Given the description of an element on the screen output the (x, y) to click on. 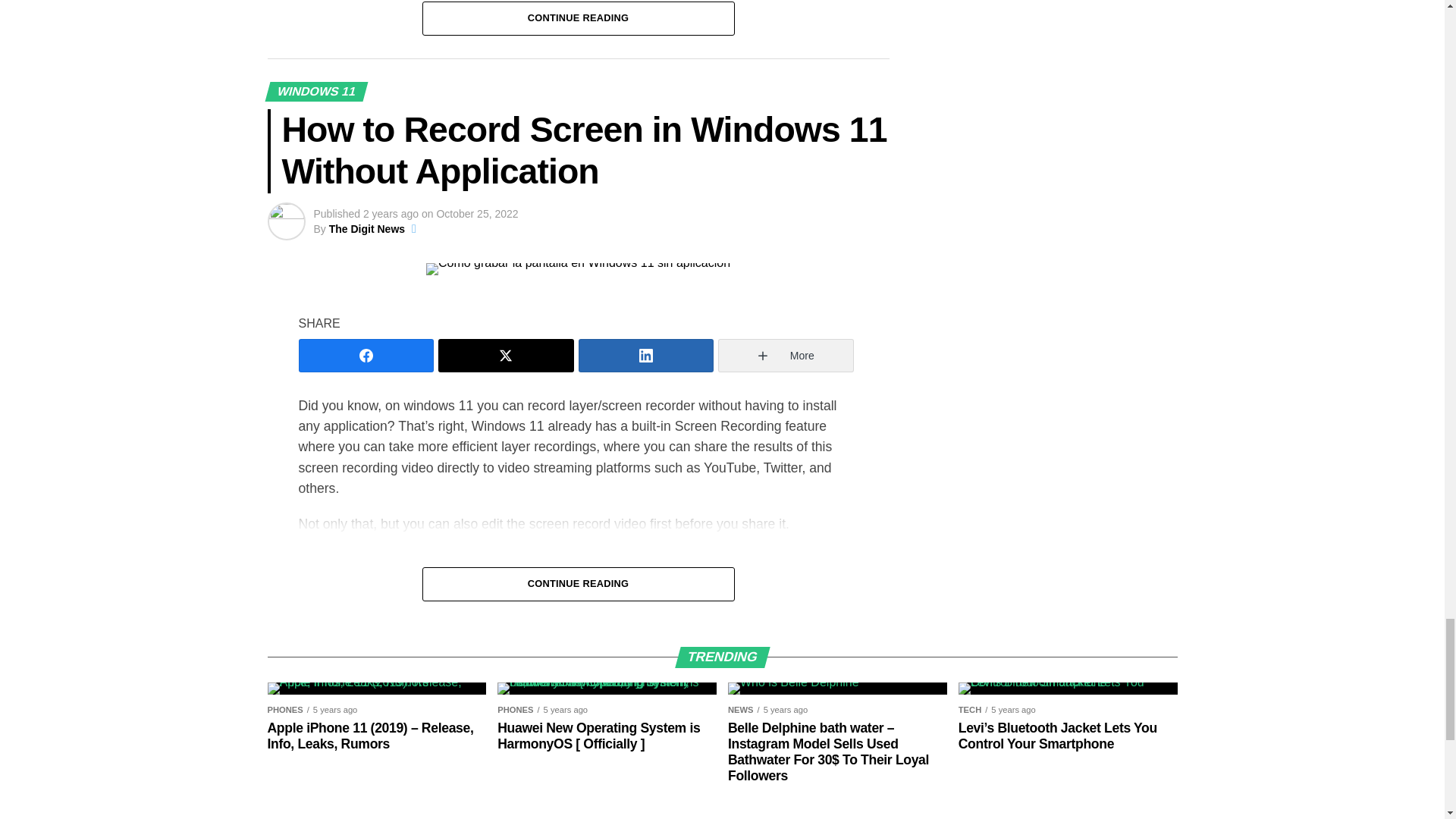
Posts by The Digit News (366, 228)
